Given the description of an element on the screen output the (x, y) to click on. 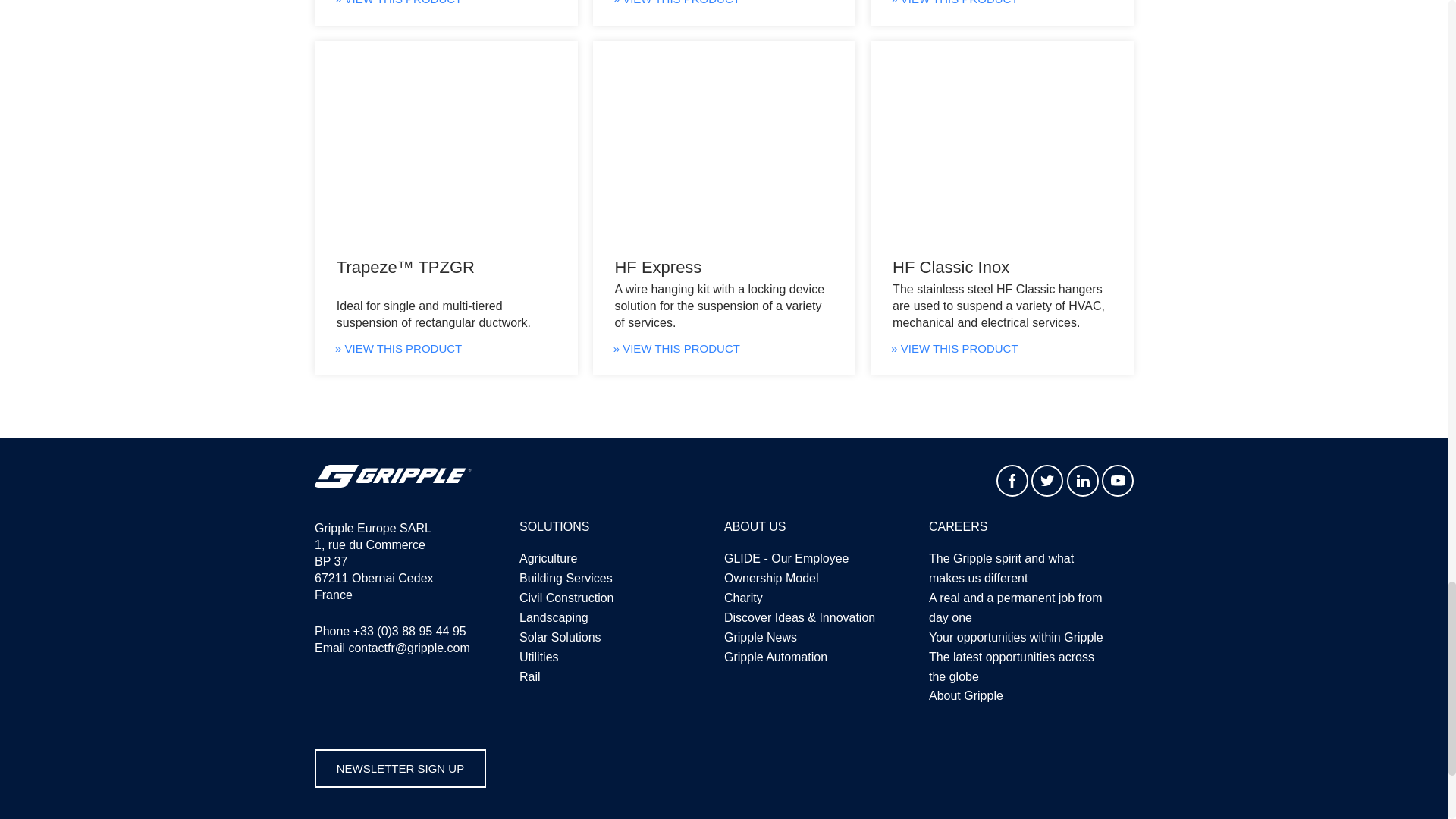
Stainless Steel Hanger (1002, 145)
Duct Trapeze (446, 145)
express tile2.png (724, 145)
